Given the description of an element on the screen output the (x, y) to click on. 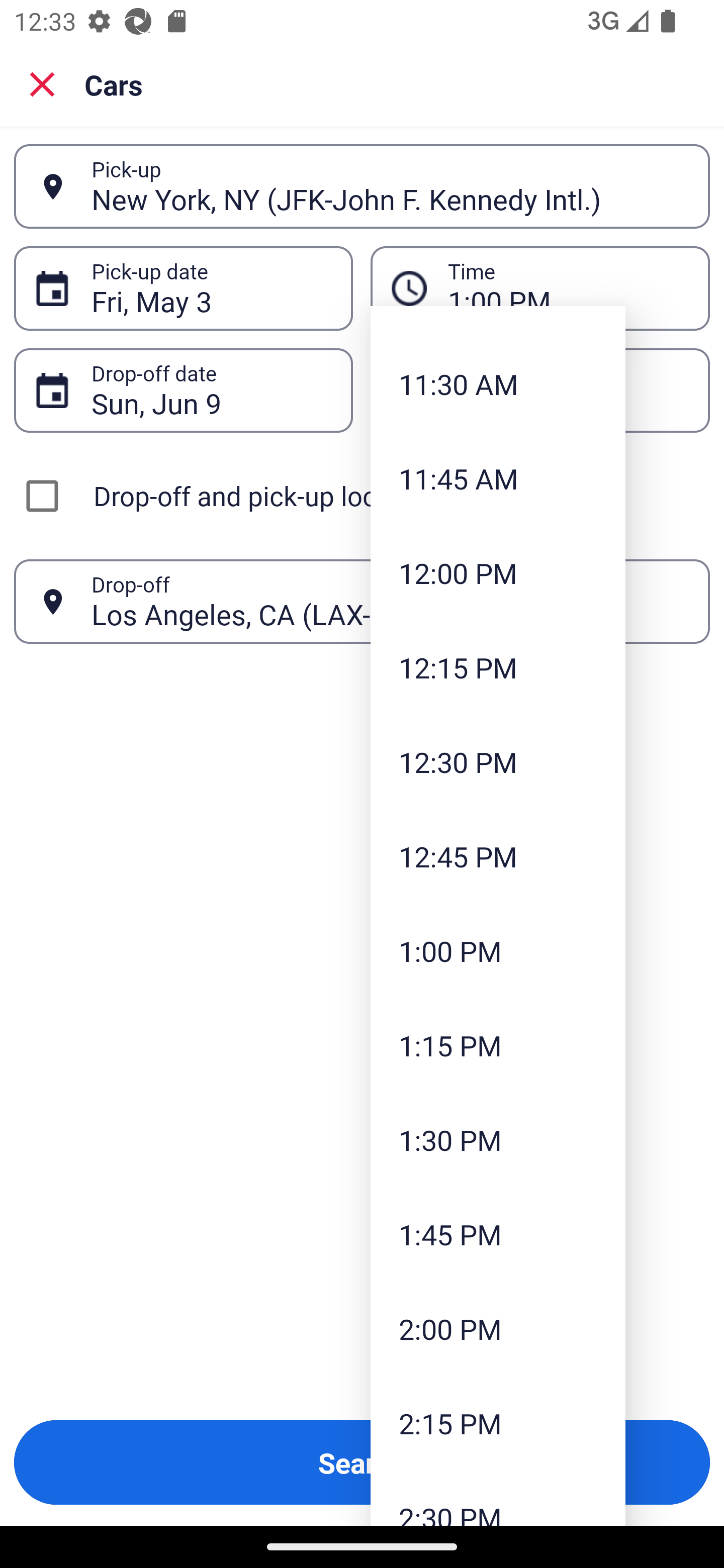
11:30 AM (497, 384)
11:45 AM (497, 478)
12:00 PM (497, 572)
12:15 PM (497, 667)
12:30 PM (497, 762)
12:45 PM (497, 856)
1:00 PM (497, 950)
1:15 PM (497, 1045)
1:30 PM (497, 1139)
1:45 PM (497, 1233)
2:00 PM (497, 1328)
2:15 PM (497, 1423)
